Given the description of an element on the screen output the (x, y) to click on. 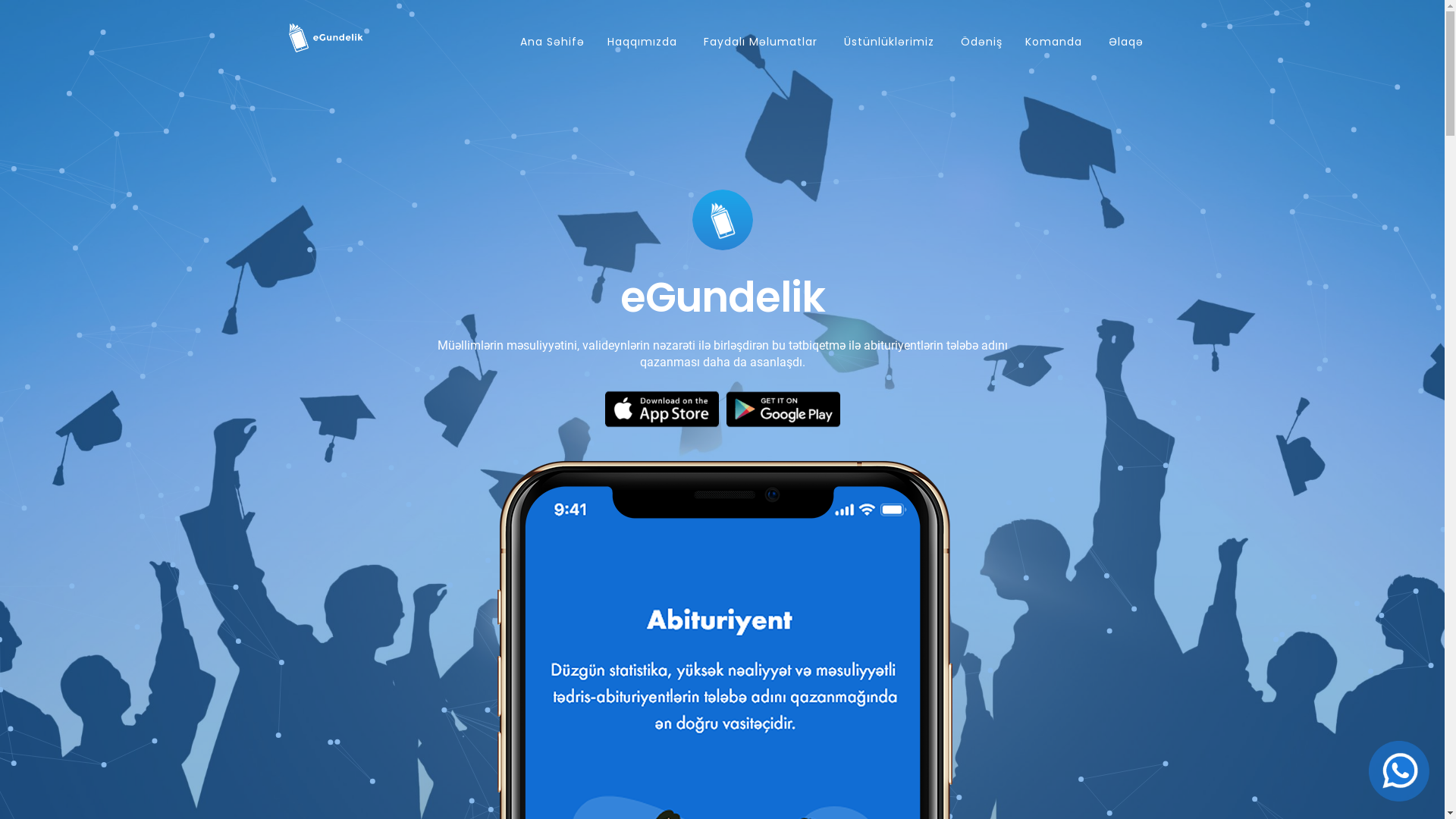
Komanda Element type: text (1052, 41)
